Given the description of an element on the screen output the (x, y) to click on. 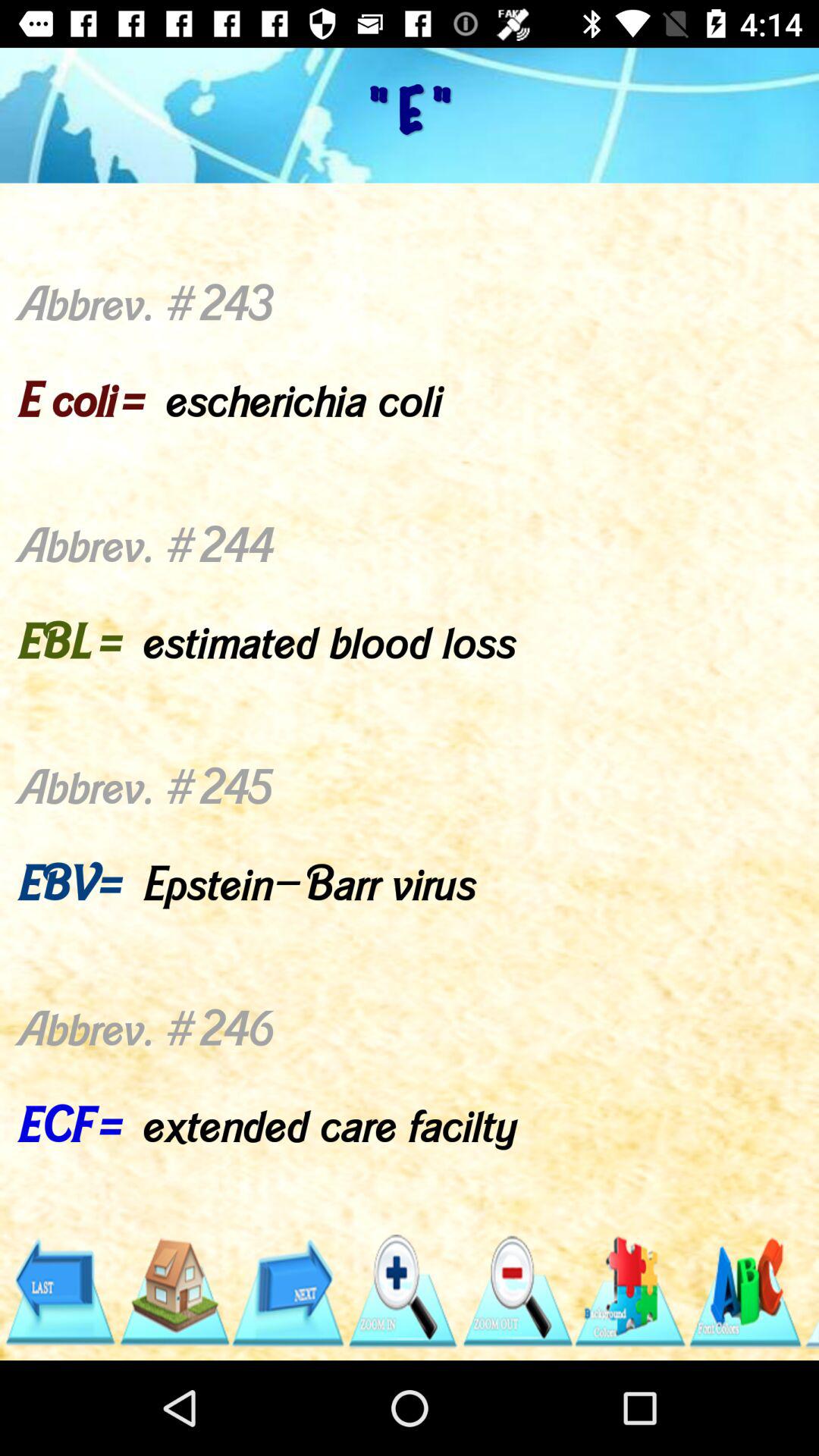
launch icon below abbrev 	243	 	e icon (745, 1291)
